Given the description of an element on the screen output the (x, y) to click on. 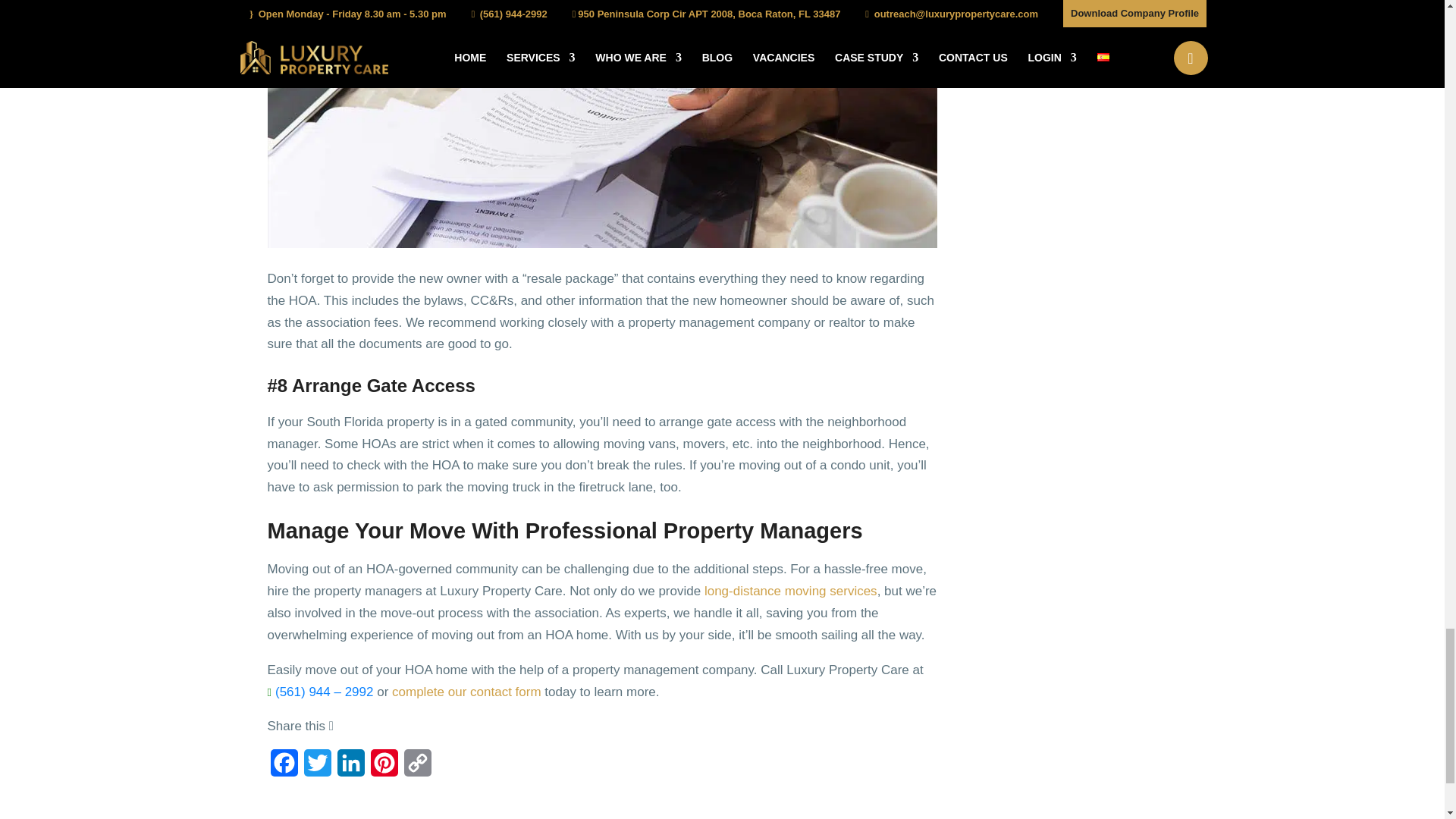
Facebook (282, 767)
Pinterest (383, 767)
LinkedIn (349, 767)
Copy Link (416, 767)
Twitter (316, 767)
